Given the description of an element on the screen output the (x, y) to click on. 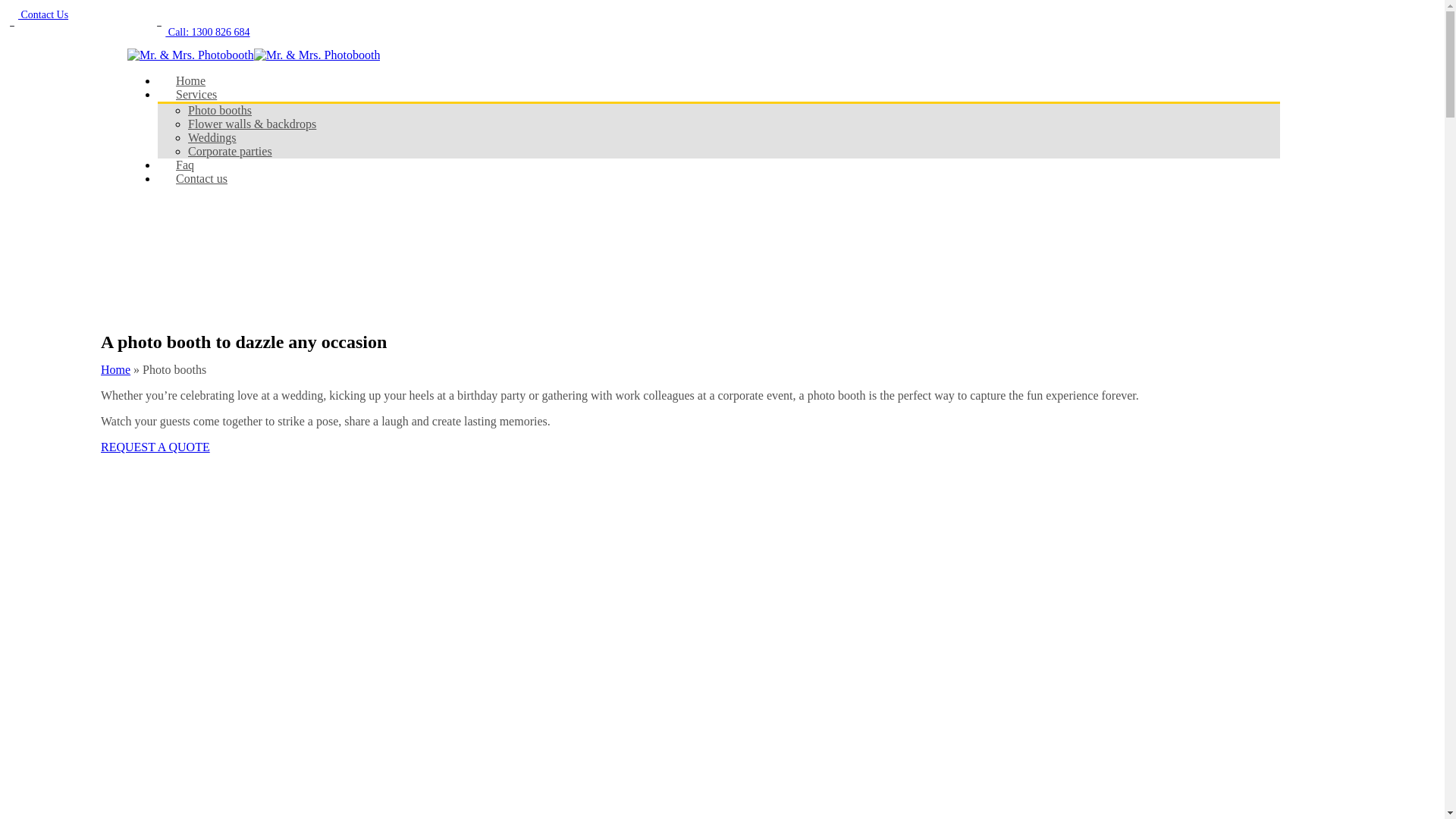
Corporate parties Element type: text (230, 150)
REQUEST A QUOTE Element type: text (155, 446)
Contact Us Element type: text (37, 14)
Contact us Element type: text (201, 178)
Click to see Phone Number Element type: text (78, 30)
Photo booths Element type: text (219, 109)
Call: 1300 826 684 Element type: text (201, 31)
Flower walls & backdrops Element type: text (252, 123)
Home Element type: text (190, 80)
Home Element type: text (115, 369)
Services Element type: text (196, 94)
Weddings Element type: text (212, 137)
Faq Element type: text (184, 164)
